Given the description of an element on the screen output the (x, y) to click on. 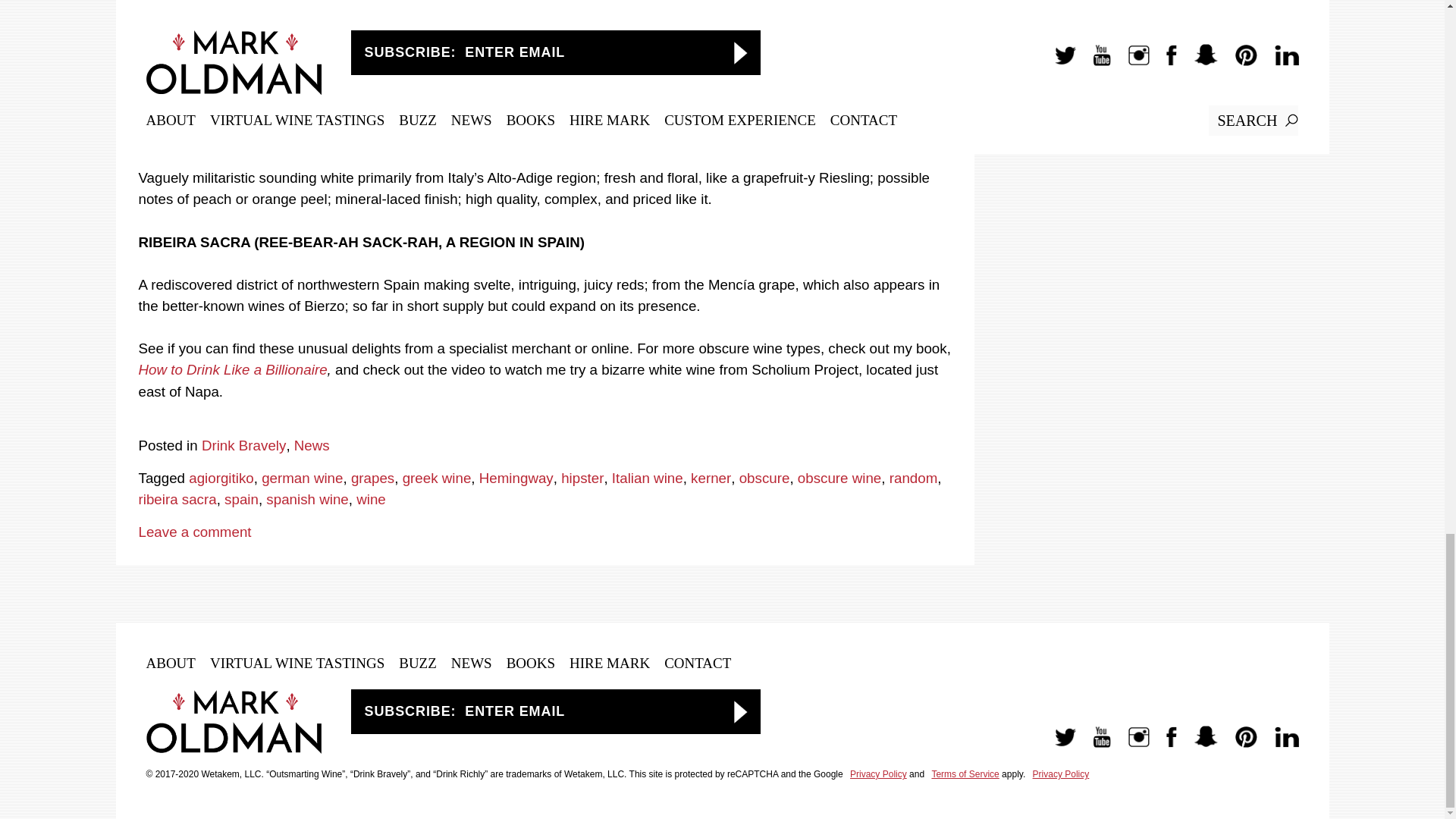
grapes (372, 478)
Drink Bravely (243, 445)
german wine (302, 478)
Facebook (1163, 745)
hipster (582, 478)
agiorgitiko (221, 478)
obscure (764, 478)
Italian wine (646, 478)
random (913, 478)
News (312, 445)
kerner (710, 478)
Pinterest (1238, 745)
How to Drink Like a Billionaire (232, 369)
obscure wine (838, 478)
spain (241, 498)
